Given the description of an element on the screen output the (x, y) to click on. 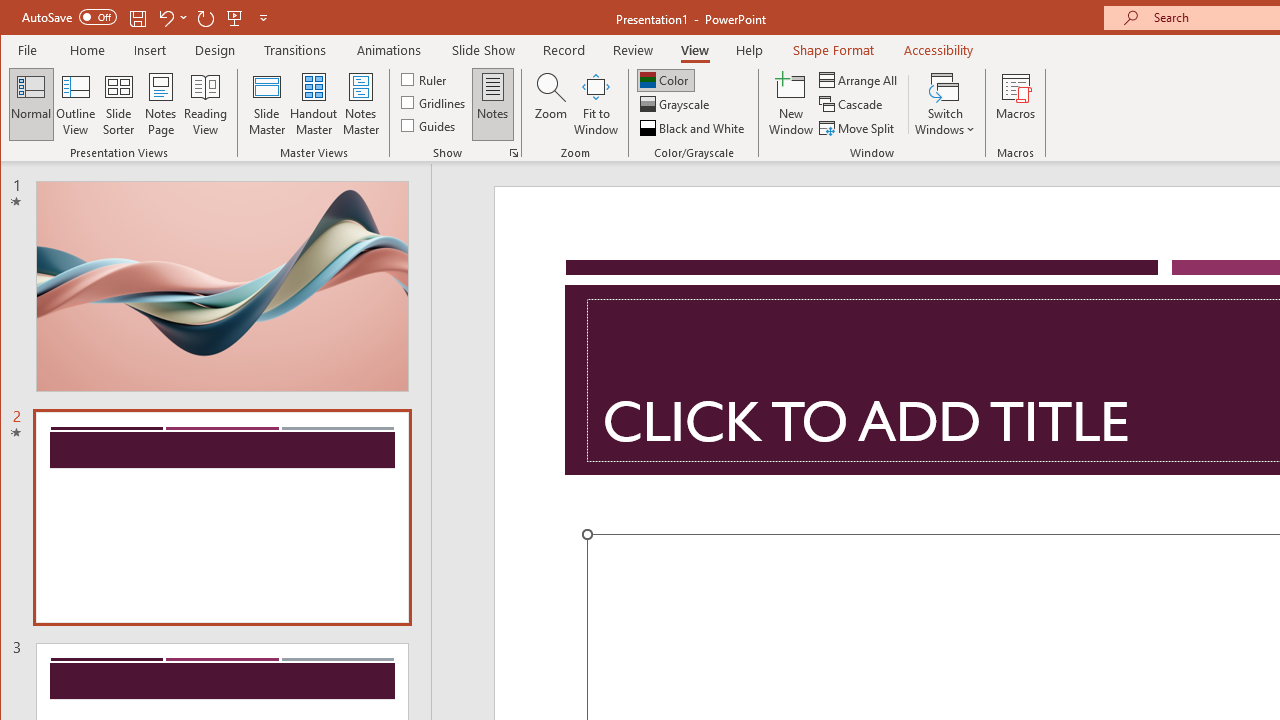
Zoom... (550, 104)
